Given the description of an element on the screen output the (x, y) to click on. 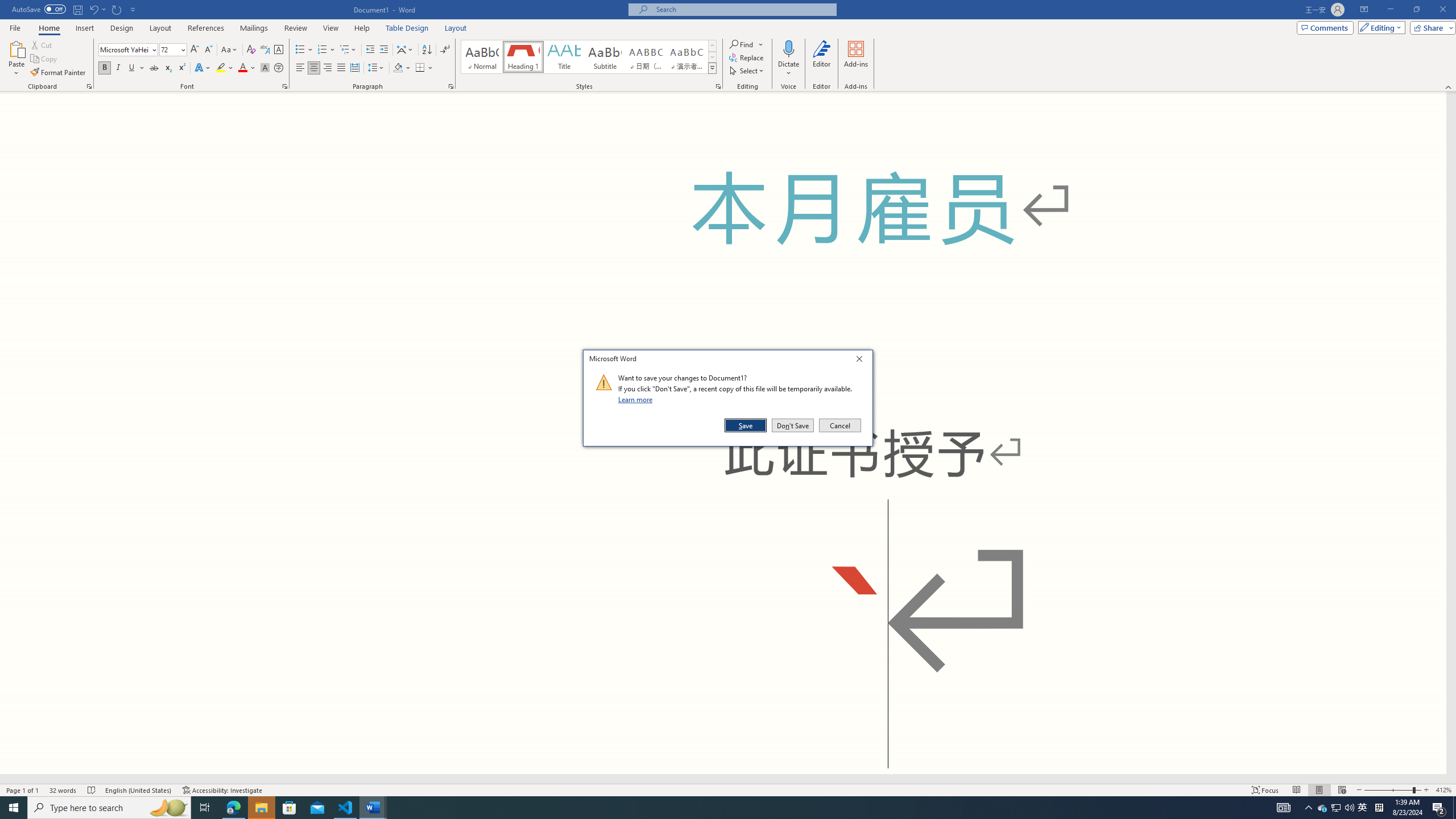
Editing (1322, 807)
File Explorer - 1 running window (1379, 27)
Page Number Page 1 of 1 (261, 807)
Microsoft Edge - 1 running window (22, 790)
